Given the description of an element on the screen output the (x, y) to click on. 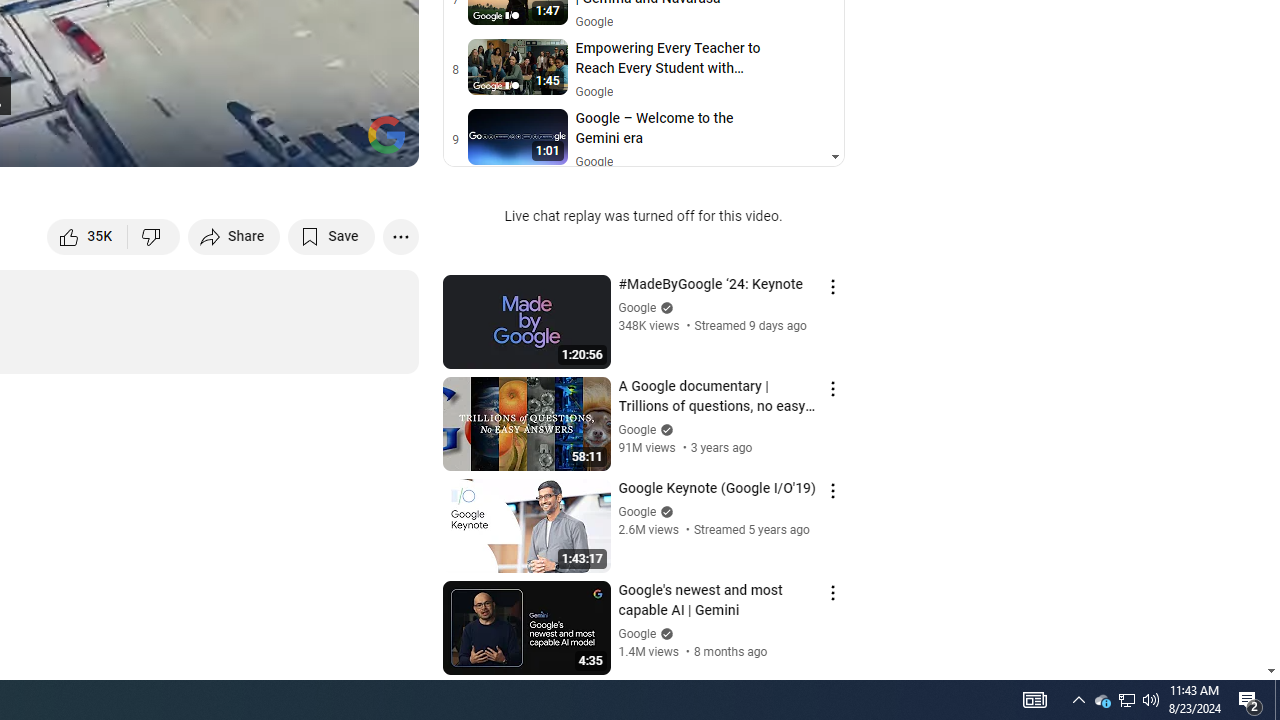
Save to playlist (331, 236)
Miniplayer (i) (286, 142)
Full screen (f) (382, 142)
like this video along with 35,367 other people (88, 236)
Dislike this video (154, 236)
